Given the description of an element on the screen output the (x, y) to click on. 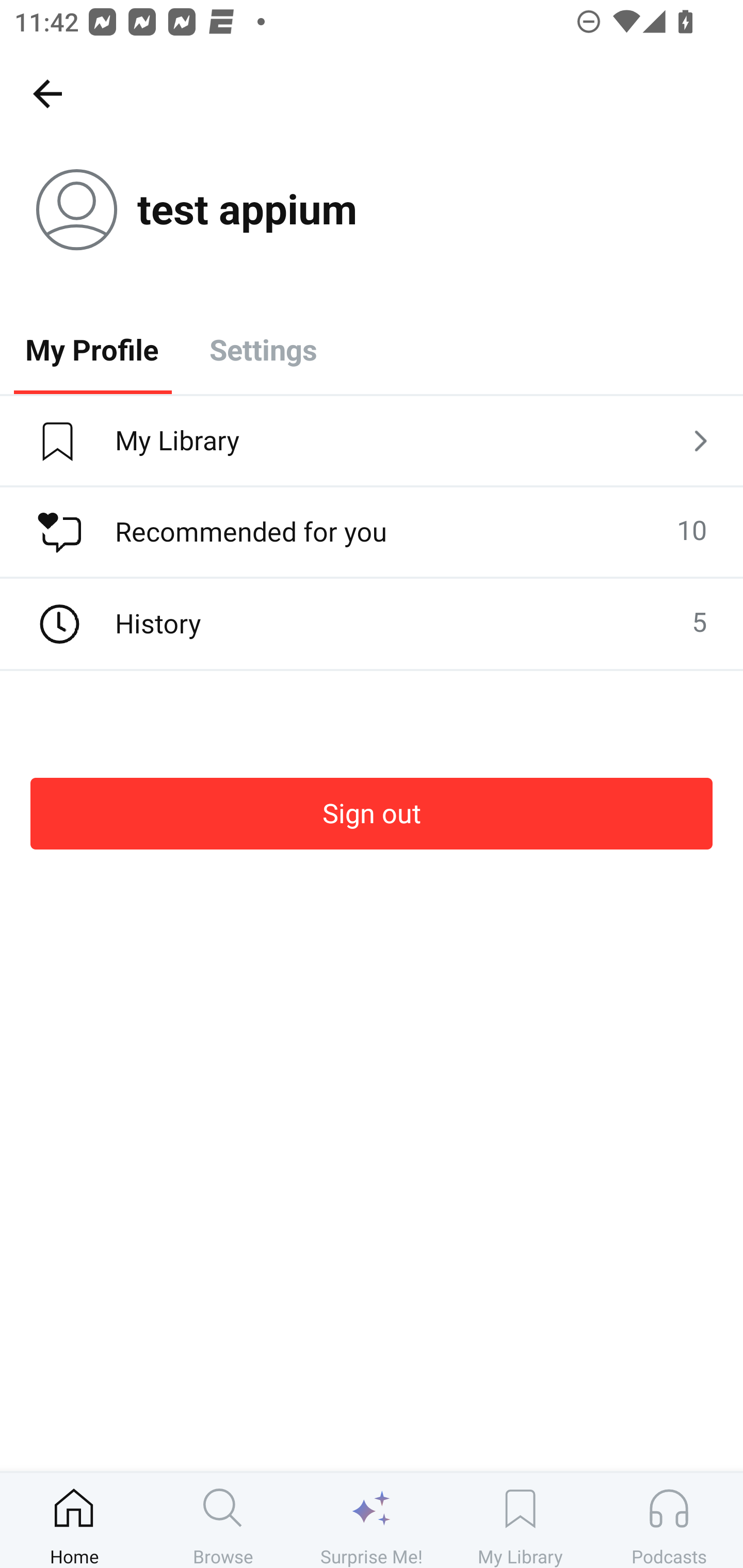
Home, back (47, 92)
My Profile (92, 348)
Settings (263, 348)
My Library (371, 441)
Recommended for you 10 (371, 532)
History 5 (371, 623)
Sign out (371, 813)
Home (74, 1520)
Browse (222, 1520)
Surprise Me! (371, 1520)
My Library (519, 1520)
Podcasts (668, 1520)
